Given the description of an element on the screen output the (x, y) to click on. 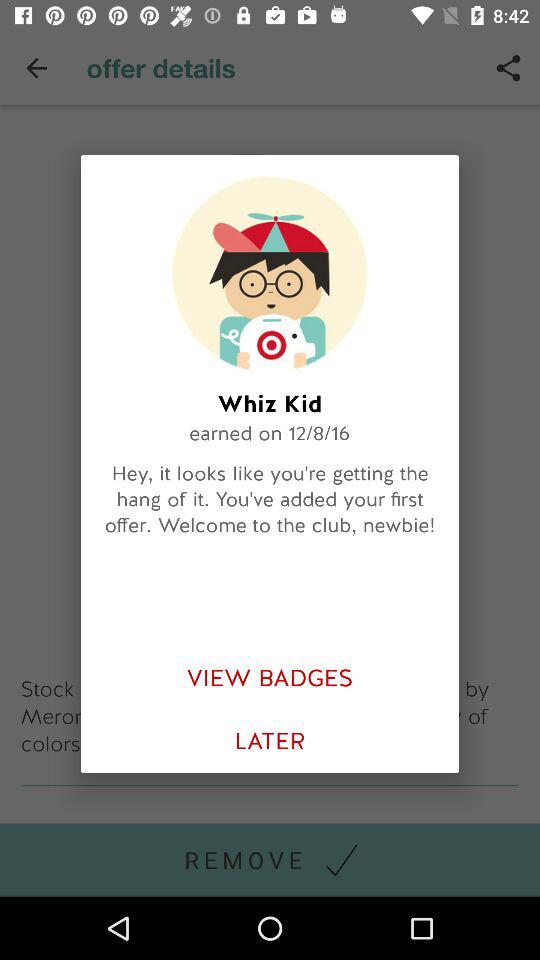
flip to later icon (270, 741)
